Given the description of an element on the screen output the (x, y) to click on. 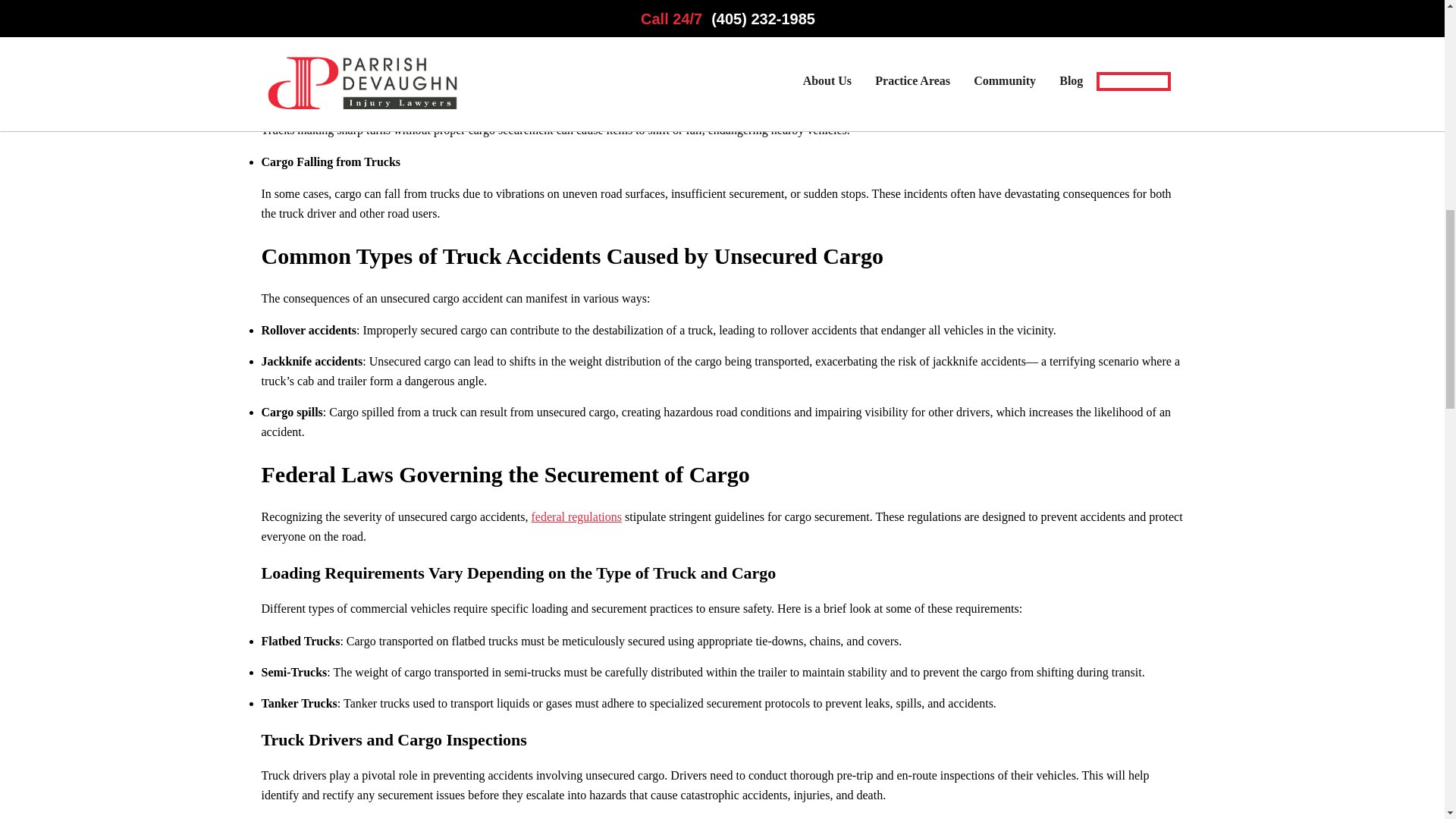
federal regulations (577, 516)
